Given the description of an element on the screen output the (x, y) to click on. 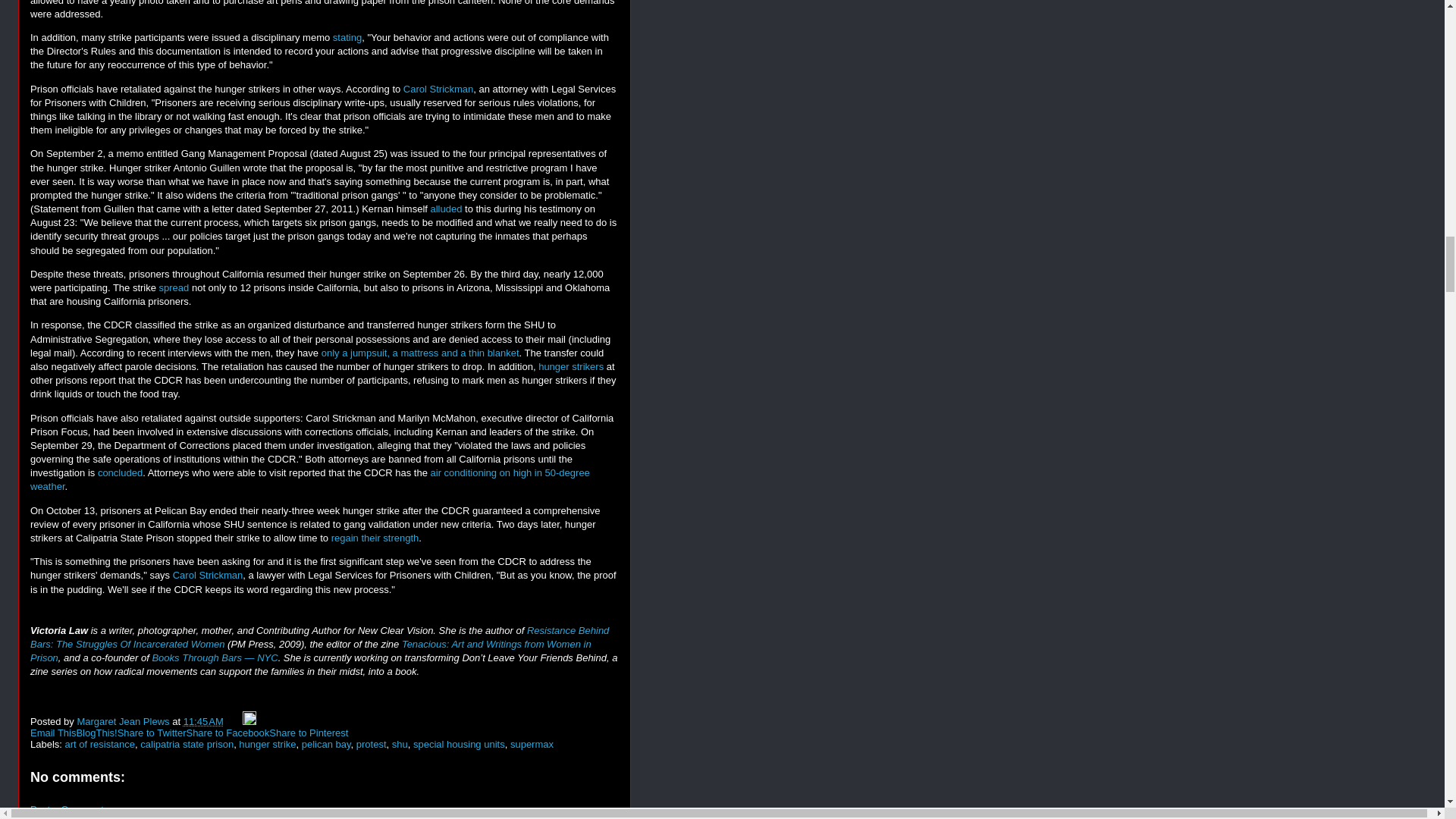
permanent link (203, 721)
author profile (124, 721)
stating (347, 37)
Share to Pinterest (308, 732)
Share to Twitter (151, 732)
alluded (447, 208)
Share to Facebook (227, 732)
Carol Strickman (438, 89)
Email This (52, 732)
Email Post (234, 721)
Edit Post (249, 721)
only a jumpsuit, a mattress and a thin blanket (420, 352)
spread (173, 287)
BlogThis! (95, 732)
